Given the description of an element on the screen output the (x, y) to click on. 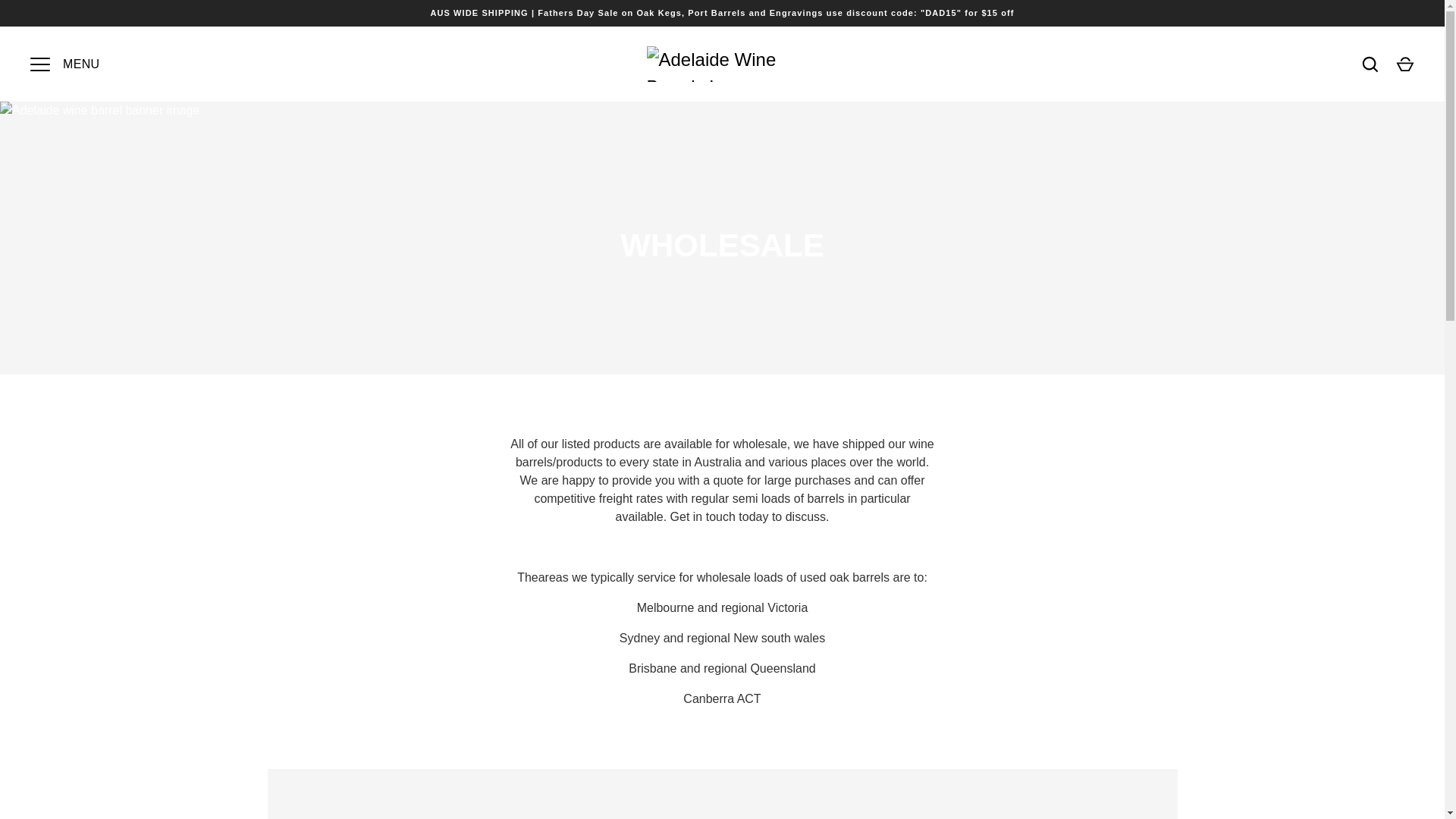
MENU (39, 64)
